Given the description of an element on the screen output the (x, y) to click on. 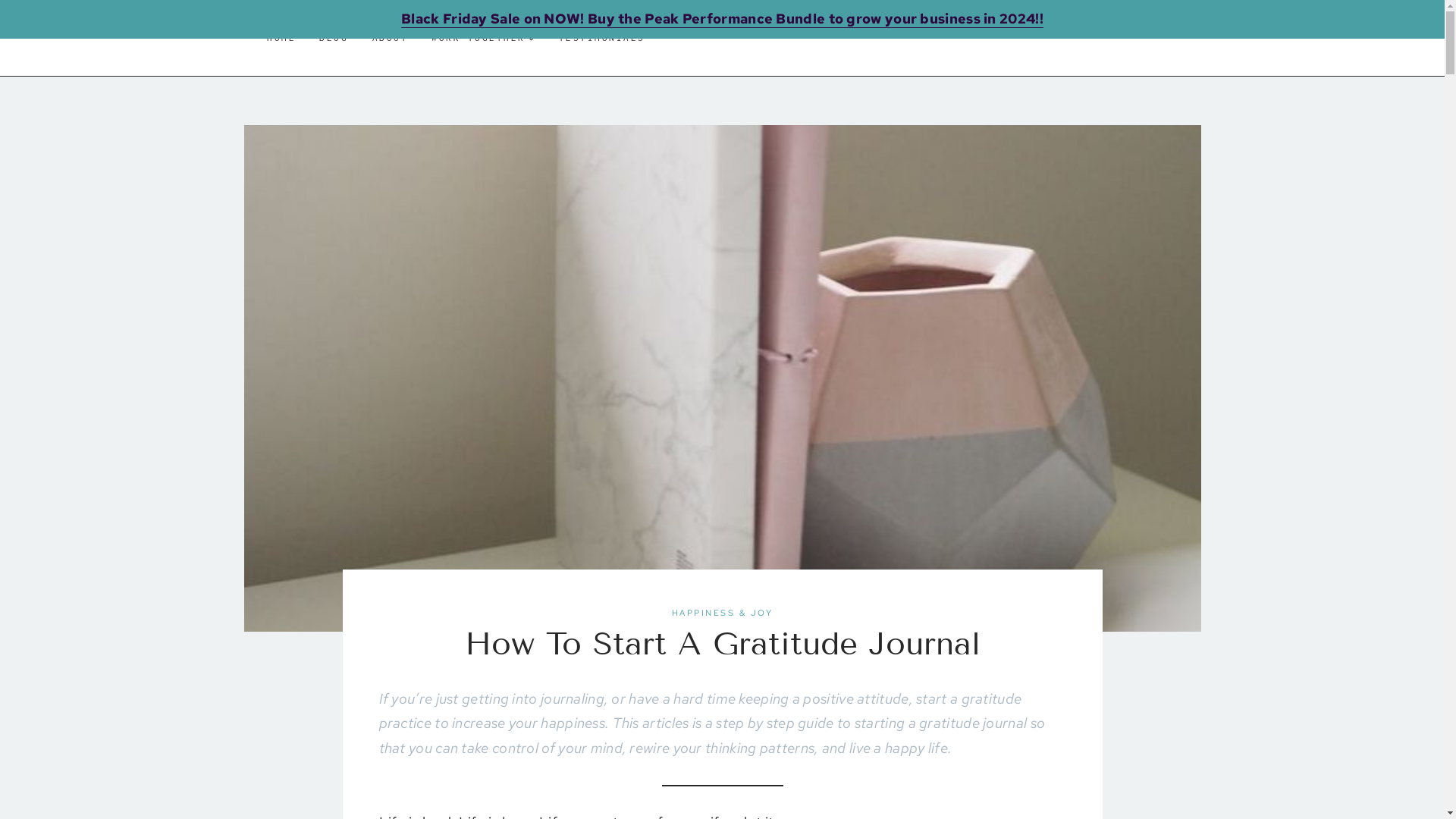
TESTIMONIALS Element type: text (601, 37)
HOME Element type: text (280, 37)
HAPPINESS & JOY Element type: text (722, 612)
BLOG Element type: text (333, 37)
ABOUT Element type: text (390, 37)
WORK TOGETHER Element type: text (483, 37)
